Given the description of an element on the screen output the (x, y) to click on. 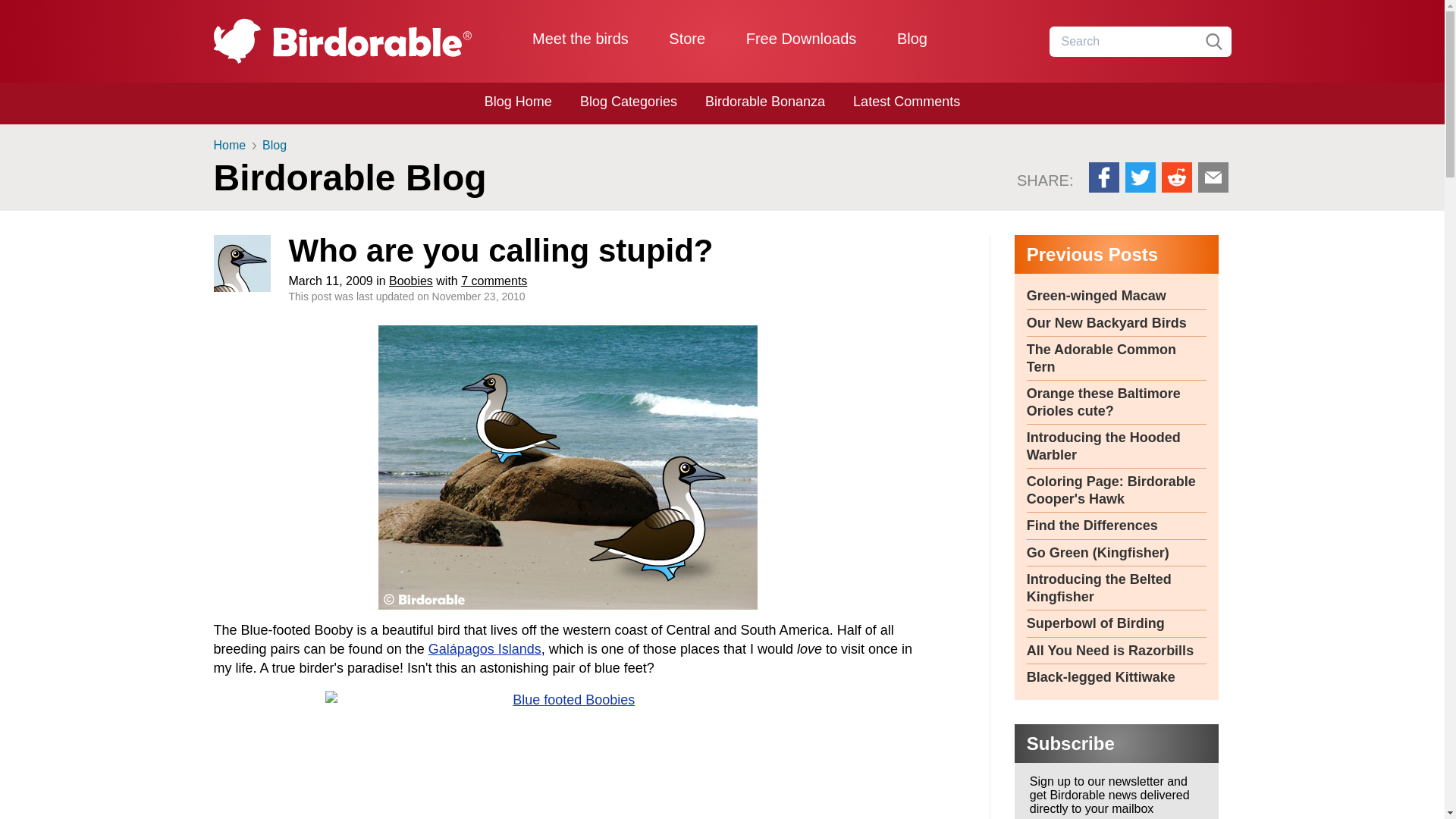
Blog (911, 38)
Blog Categories (628, 101)
Blue footed Boobies by chany crystal, on Flickr (568, 755)
Store (686, 38)
Blog Home (517, 101)
Meet the birds (580, 38)
Free Downloads (801, 38)
